Given the description of an element on the screen output the (x, y) to click on. 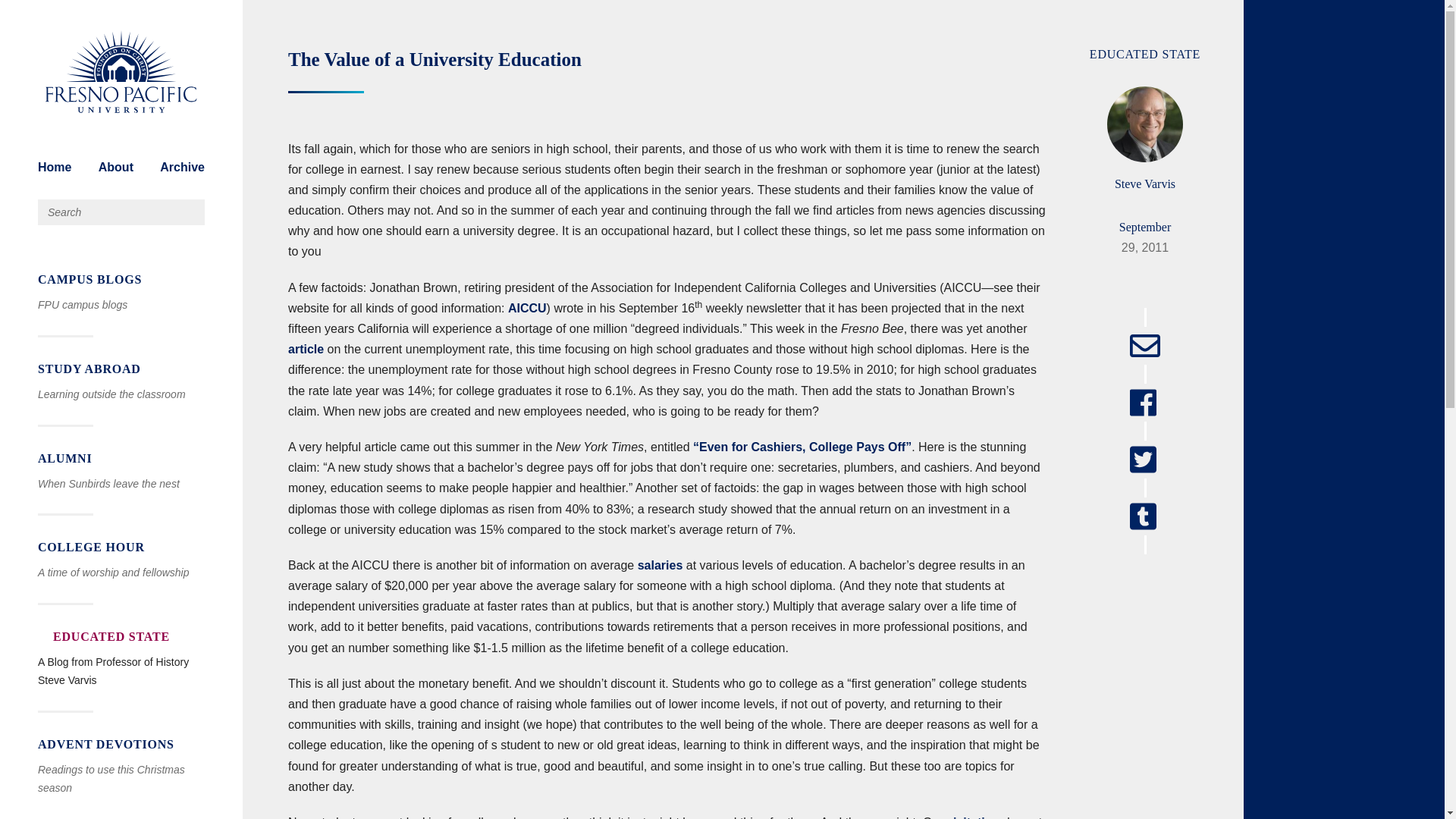
AICCU (527, 308)
article (305, 349)
EDUCATED STATE (1144, 53)
CAMPUS BLOGS (121, 280)
Home (54, 166)
STUDY ABROAD (121, 369)
EDUCATED STATE (121, 637)
ALUMNI (121, 458)
COLLEGE HOUR (121, 547)
visitation (972, 817)
